Given the description of an element on the screen output the (x, y) to click on. 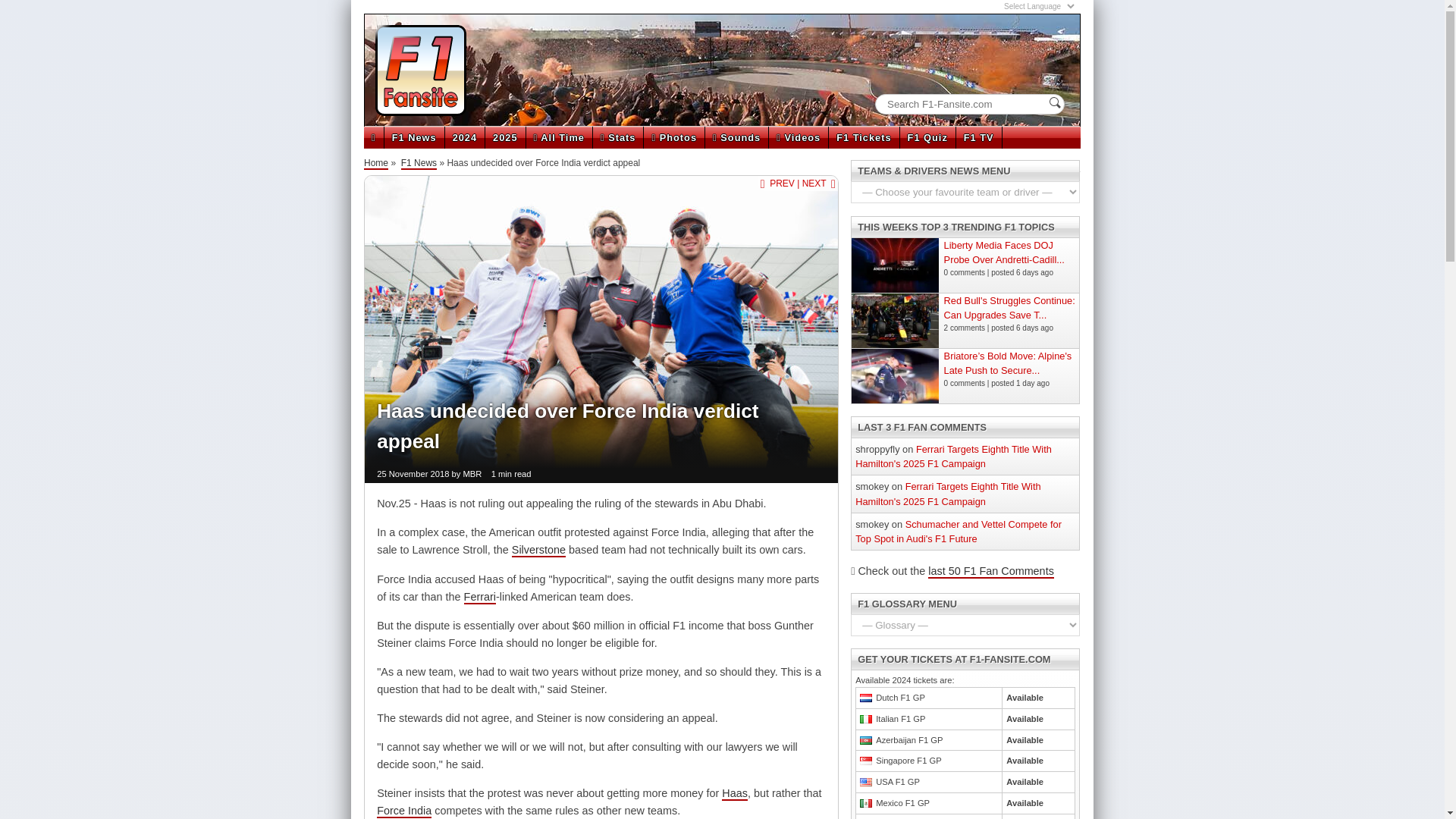
2025 Formula 1 Season (504, 137)
F1 Videos (798, 137)
2024 F1 Season info (464, 137)
F1 Tickets (863, 137)
F1 Quiz (927, 137)
F1 Tickets (863, 137)
MBR (472, 474)
Haas (735, 793)
F1 TV (978, 137)
Sounds (736, 137)
